Given the description of an element on the screen output the (x, y) to click on. 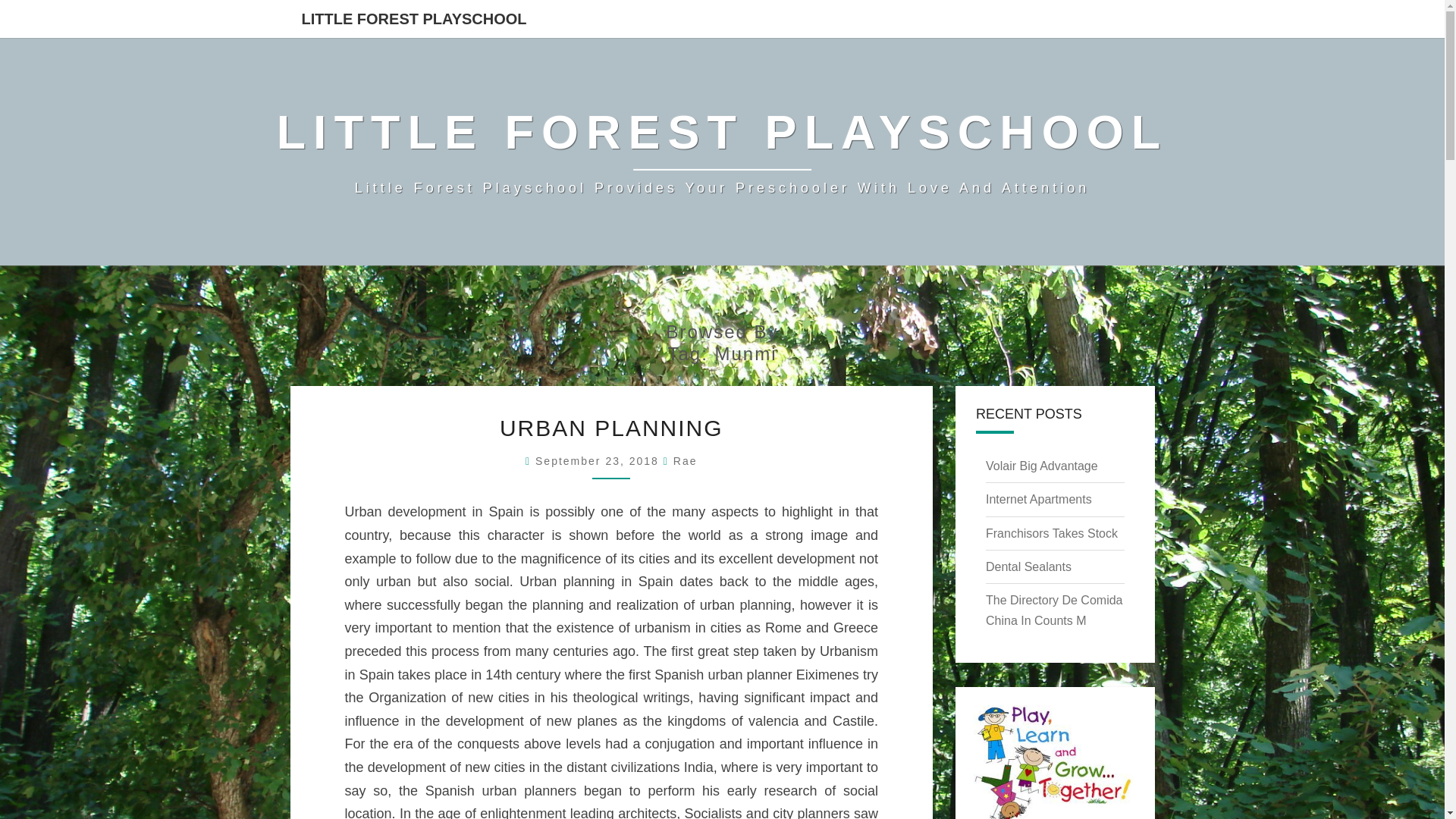
URBAN PLANNING (611, 427)
The Directory De Comida China In Counts M (1053, 610)
View all posts by Rae (684, 460)
Franchisors Takes Stock (1051, 533)
11:52 am (599, 460)
Volair Big Advantage (1041, 465)
Little Forest Playschool (722, 151)
LITTLE FOREST PLAYSCHOOL (413, 18)
September 23, 2018 (599, 460)
Dental Sealants (1028, 566)
